Given the description of an element on the screen output the (x, y) to click on. 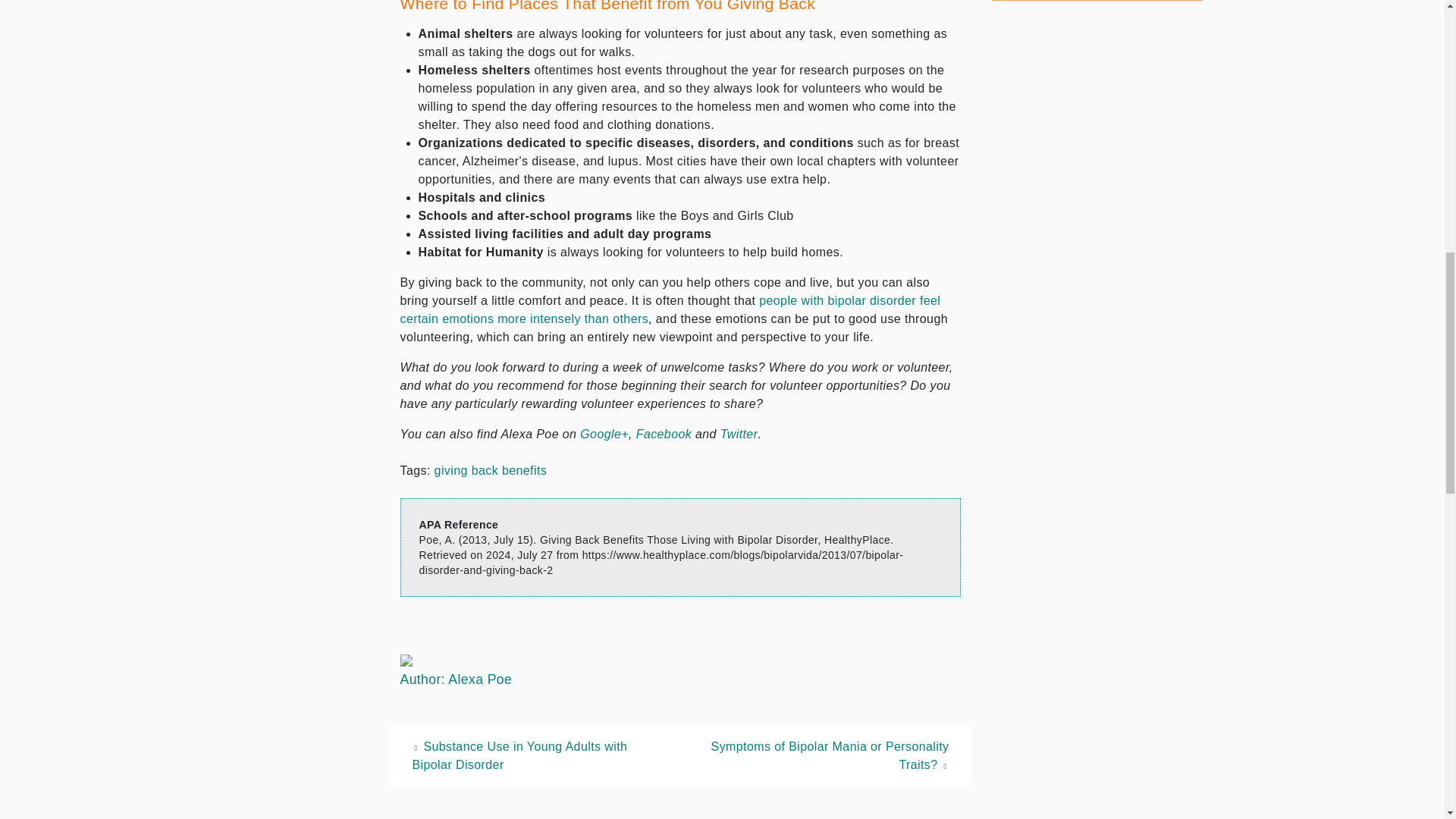
Bipolar Passion vs. Bipolar Anger (670, 309)
